Given the description of an element on the screen output the (x, y) to click on. 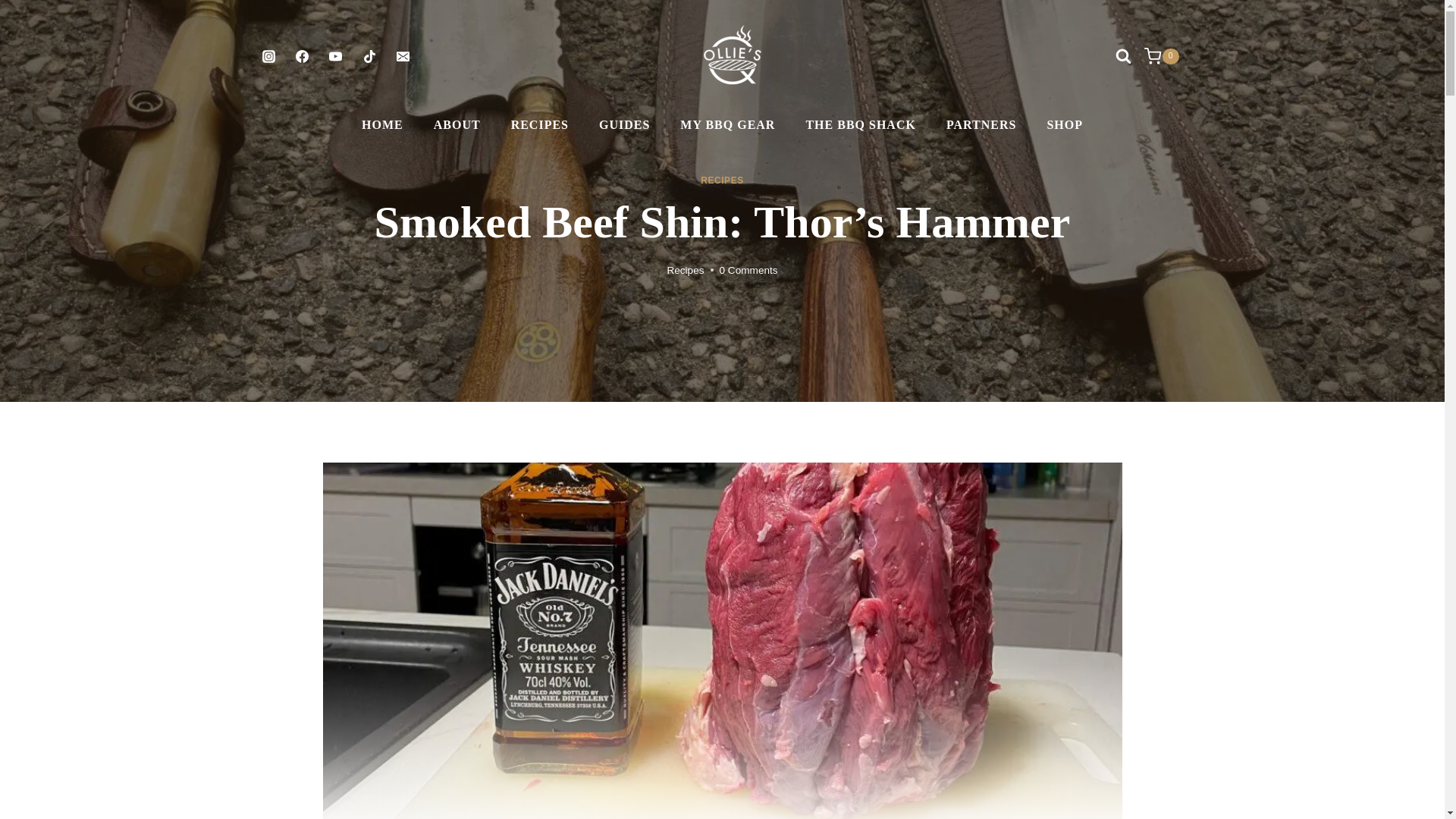
THE BBQ SHACK (860, 125)
0 (1176, 55)
0 Comments (748, 270)
Recipes (684, 270)
SHOP (1063, 125)
RECIPES (721, 180)
HOME (382, 125)
GUIDES (624, 125)
PARTNERS (980, 125)
MY BBQ GEAR (727, 125)
ABOUT (457, 125)
0 Comments (748, 270)
RECIPES (539, 125)
